Given the description of an element on the screen output the (x, y) to click on. 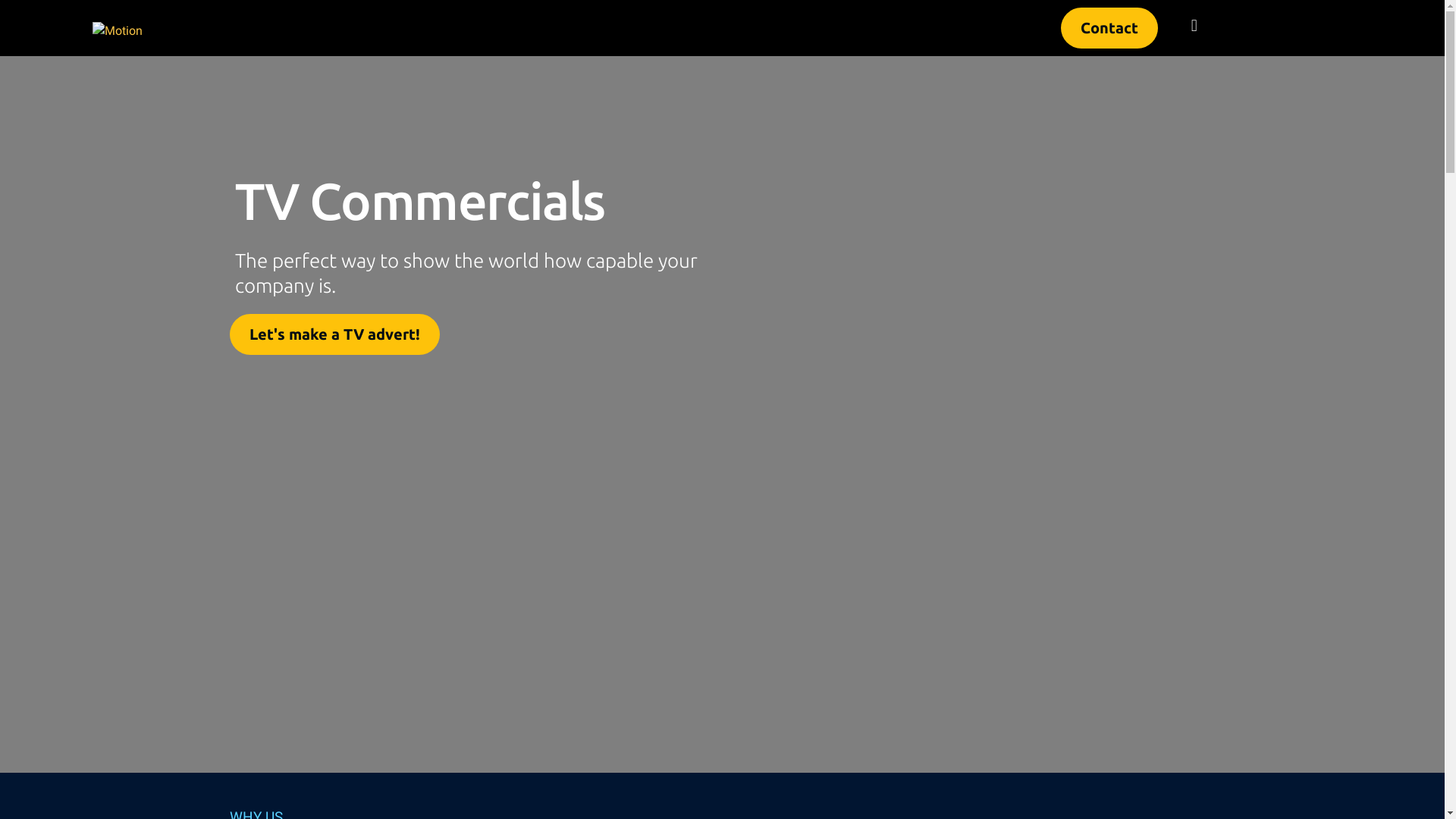
Contact Element type: text (1108, 27)
Let's make a TV advert! Element type: text (334, 333)
